Given the description of an element on the screen output the (x, y) to click on. 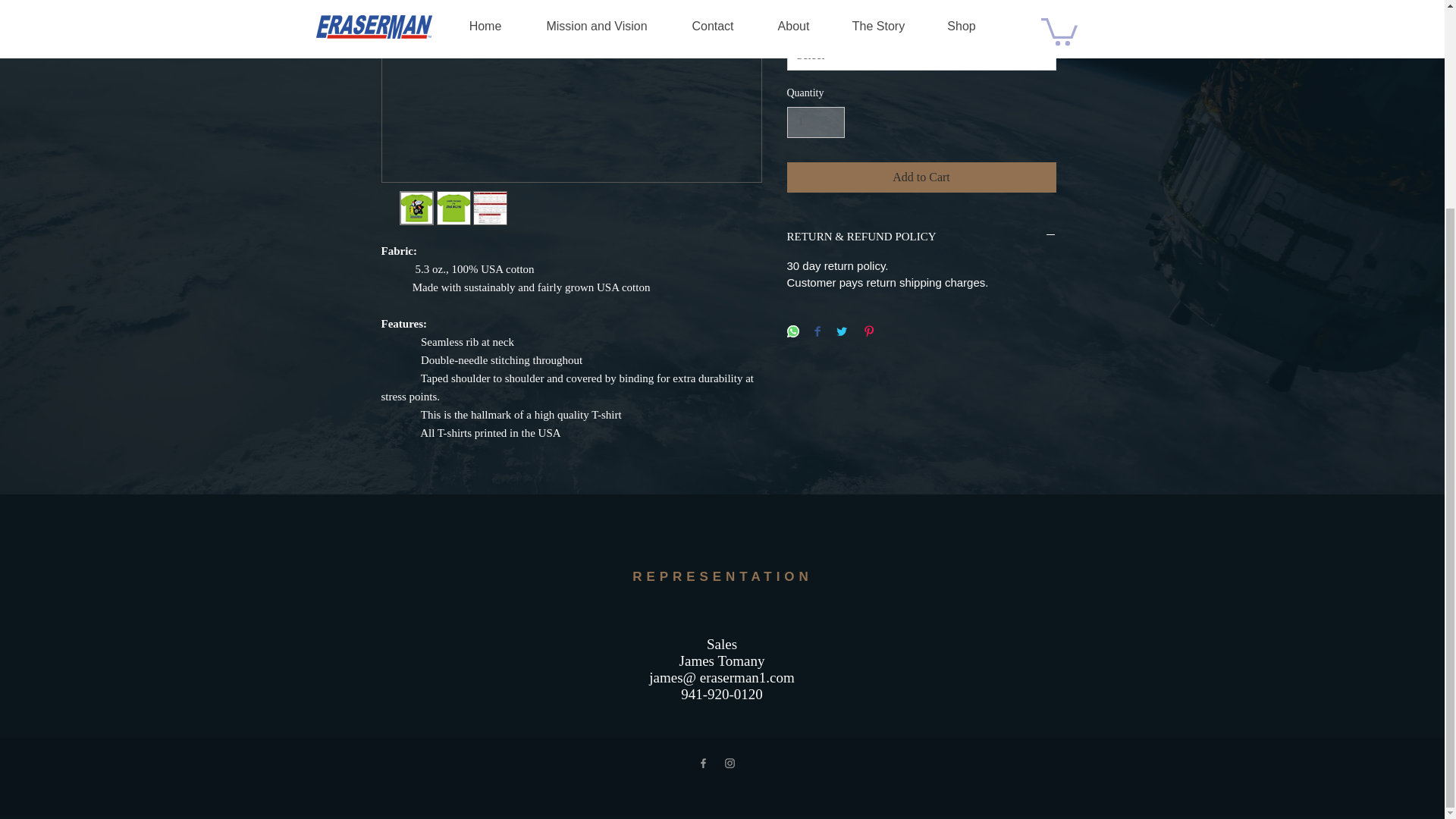
Add to Cart (922, 177)
Select (922, 55)
1 (815, 122)
